Given the description of an element on the screen output the (x, y) to click on. 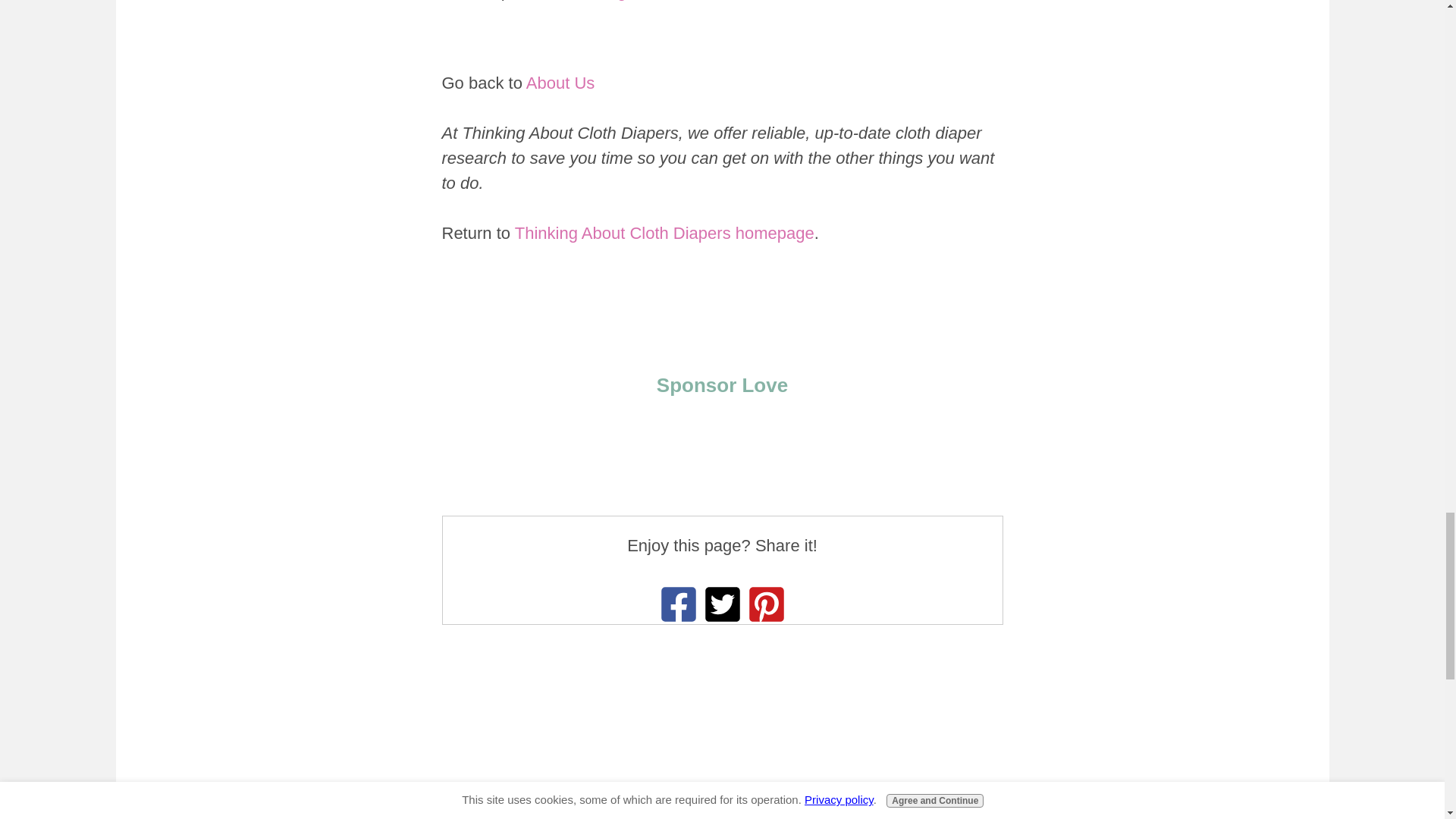
Tidy tots long ad (721, 461)
Thinking About Cloth Diapers homepage (664, 232)
About Us (560, 82)
